Given the description of an element on the screen output the (x, y) to click on. 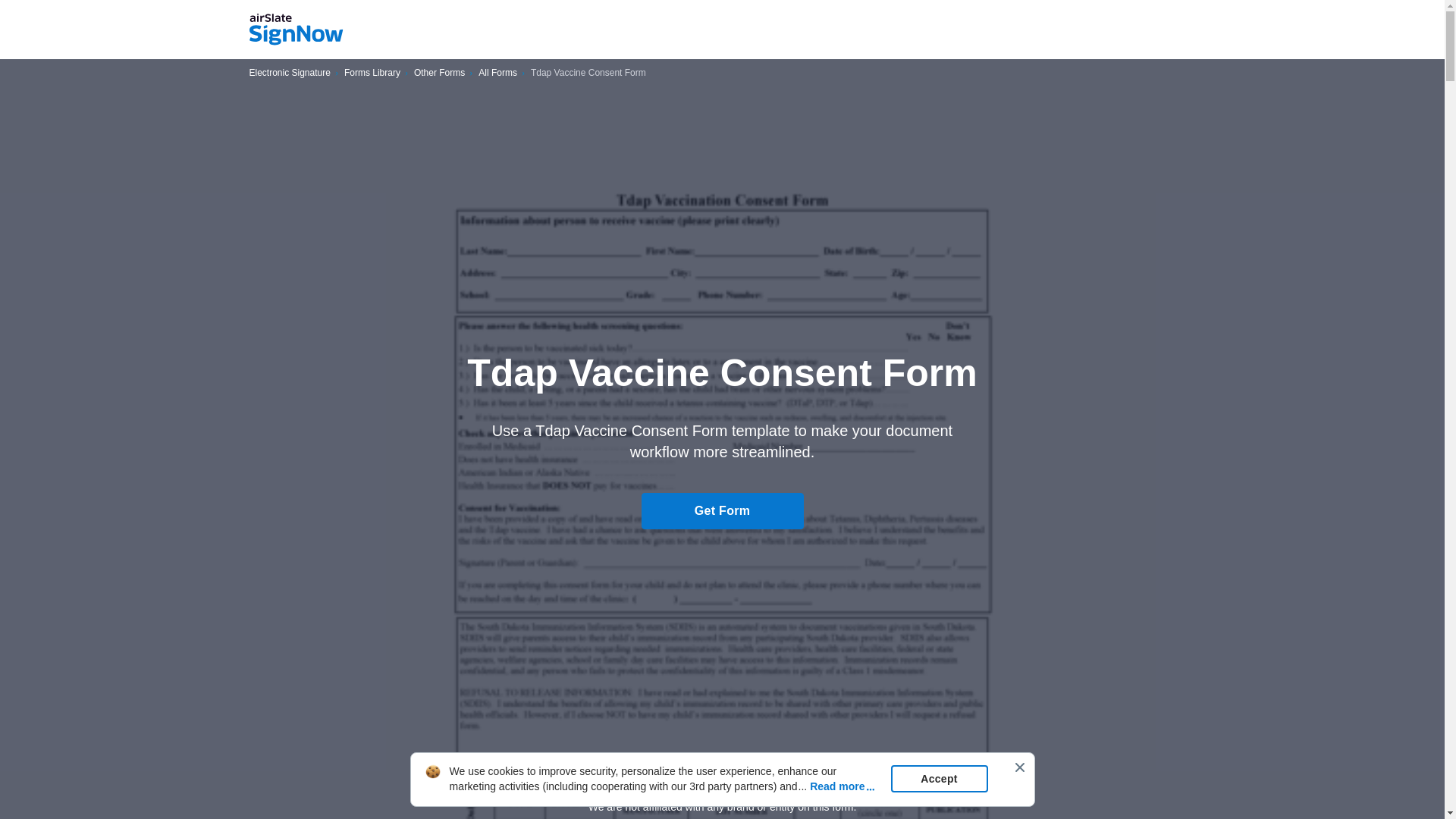
Show details (722, 780)
Electronic Signature (289, 73)
Get Form (722, 511)
Forms Library (371, 73)
All Forms (497, 73)
signNow (295, 29)
Other Forms (438, 73)
